Given the description of an element on the screen output the (x, y) to click on. 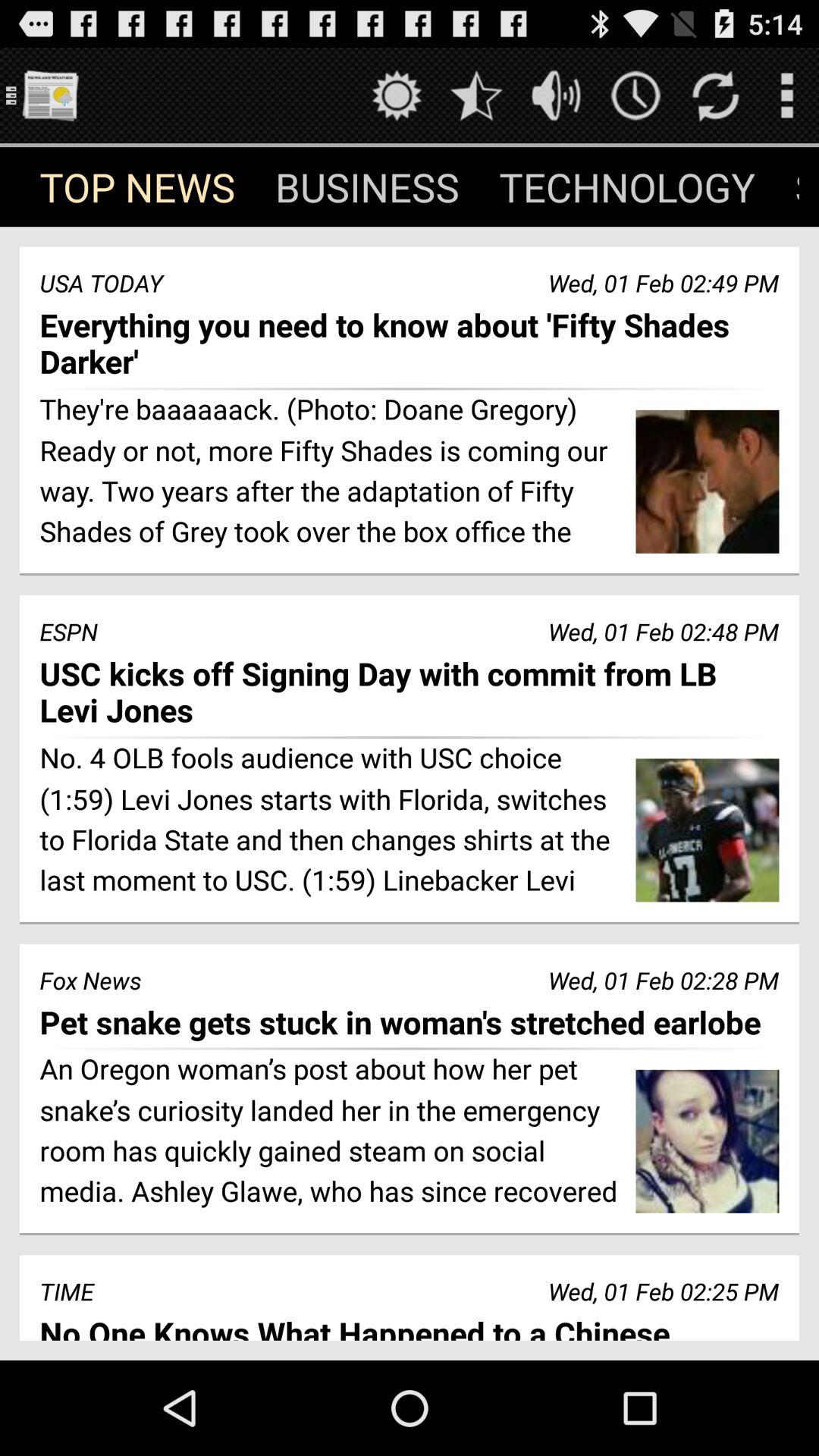
expand menu (787, 95)
